Given the description of an element on the screen output the (x, y) to click on. 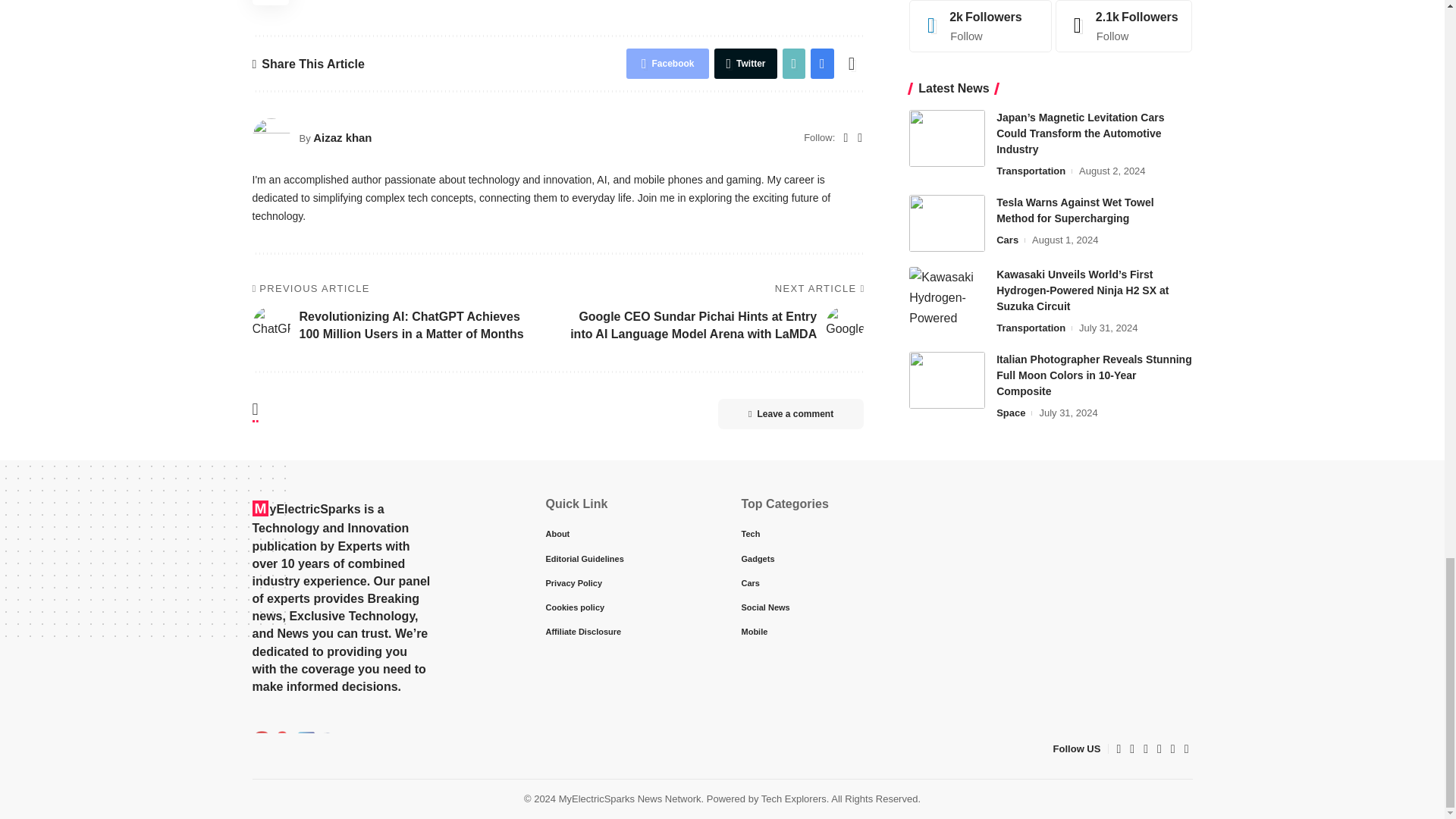
Tech Explorers (295, 748)
